Given the description of an element on the screen output the (x, y) to click on. 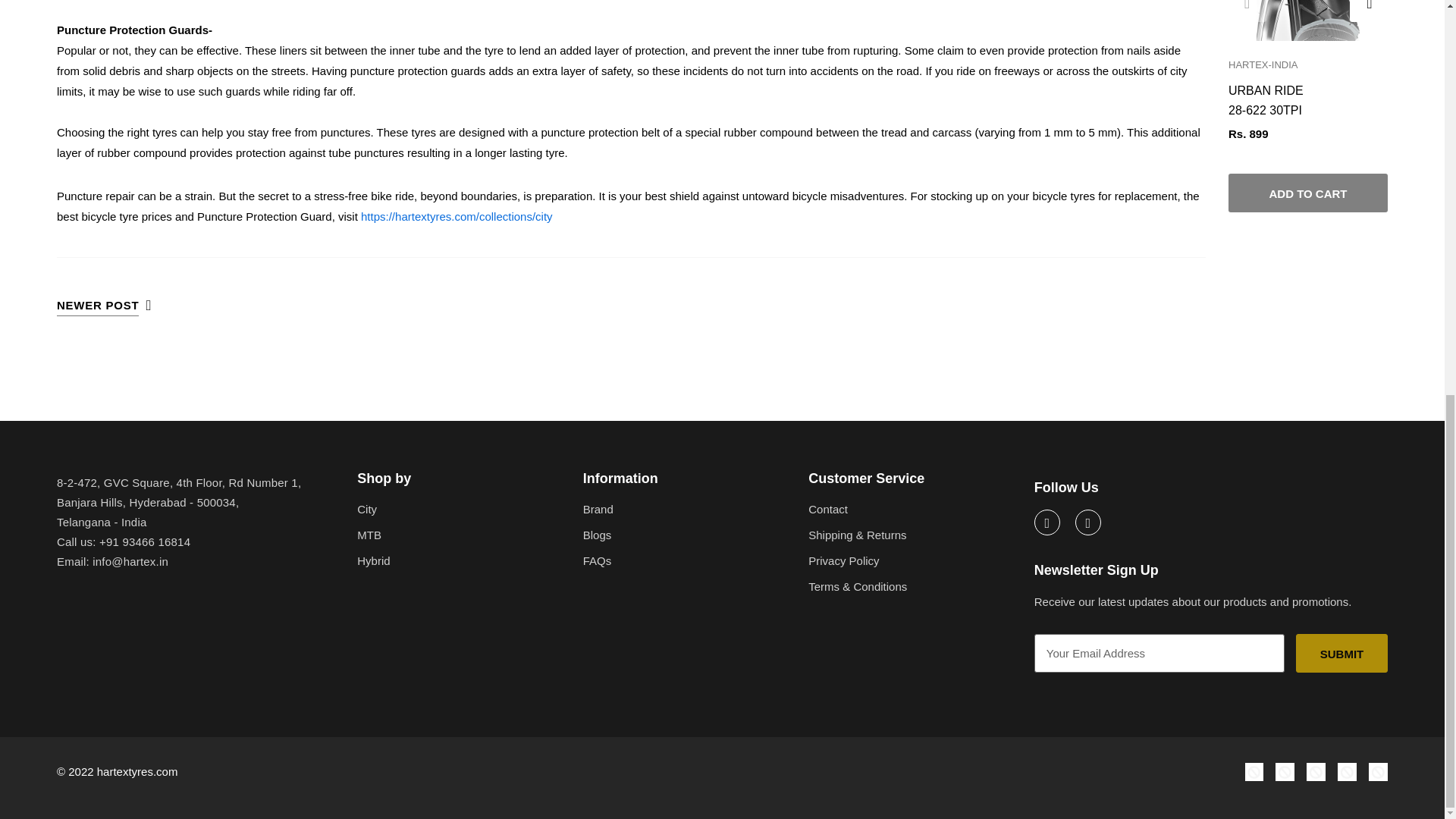
Submit (1341, 652)
